Given the description of an element on the screen output the (x, y) to click on. 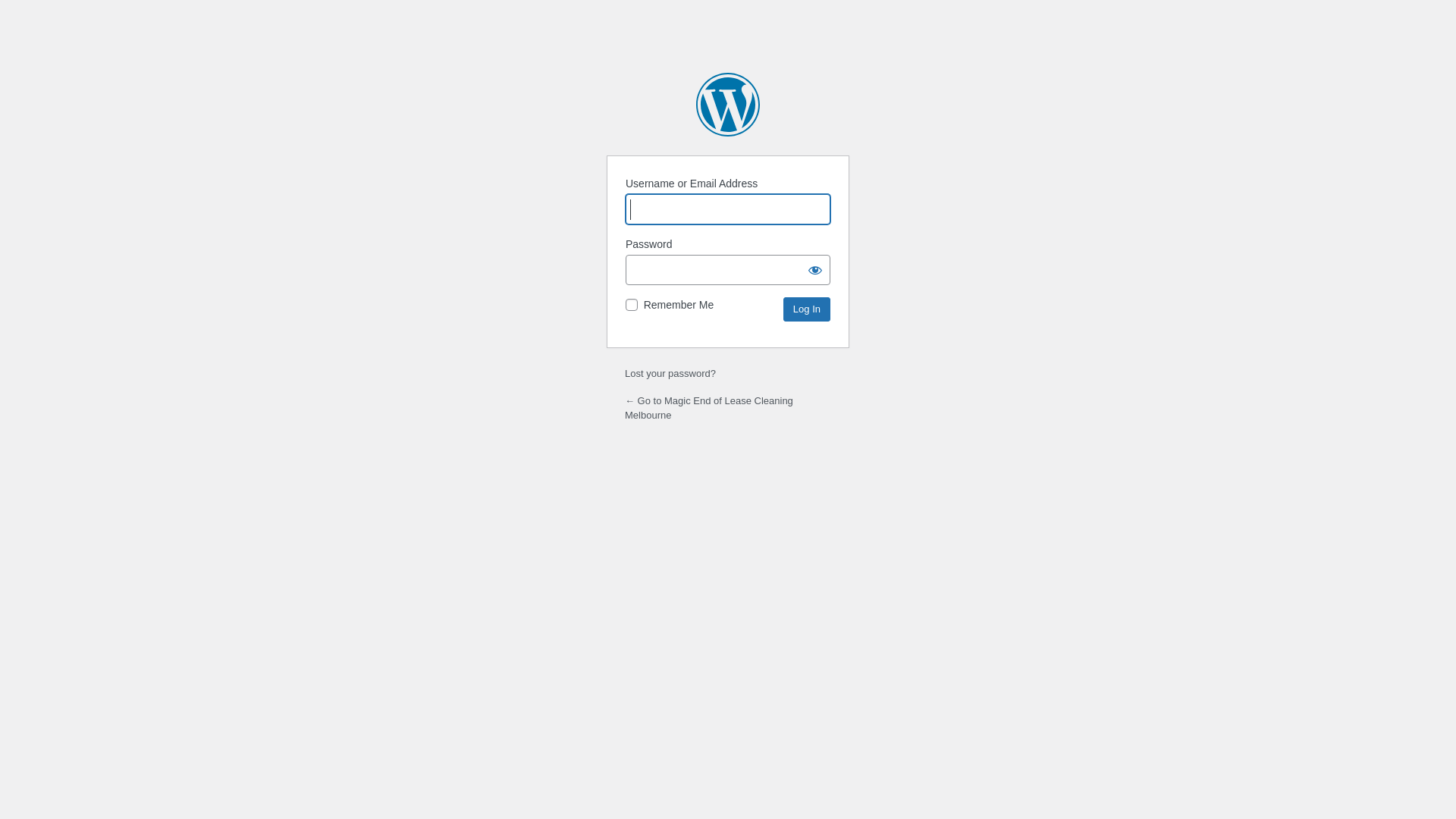
Log In Element type: text (806, 309)
Lost your password? Element type: text (669, 373)
Powered by WordPress Element type: text (727, 104)
